Given the description of an element on the screen output the (x, y) to click on. 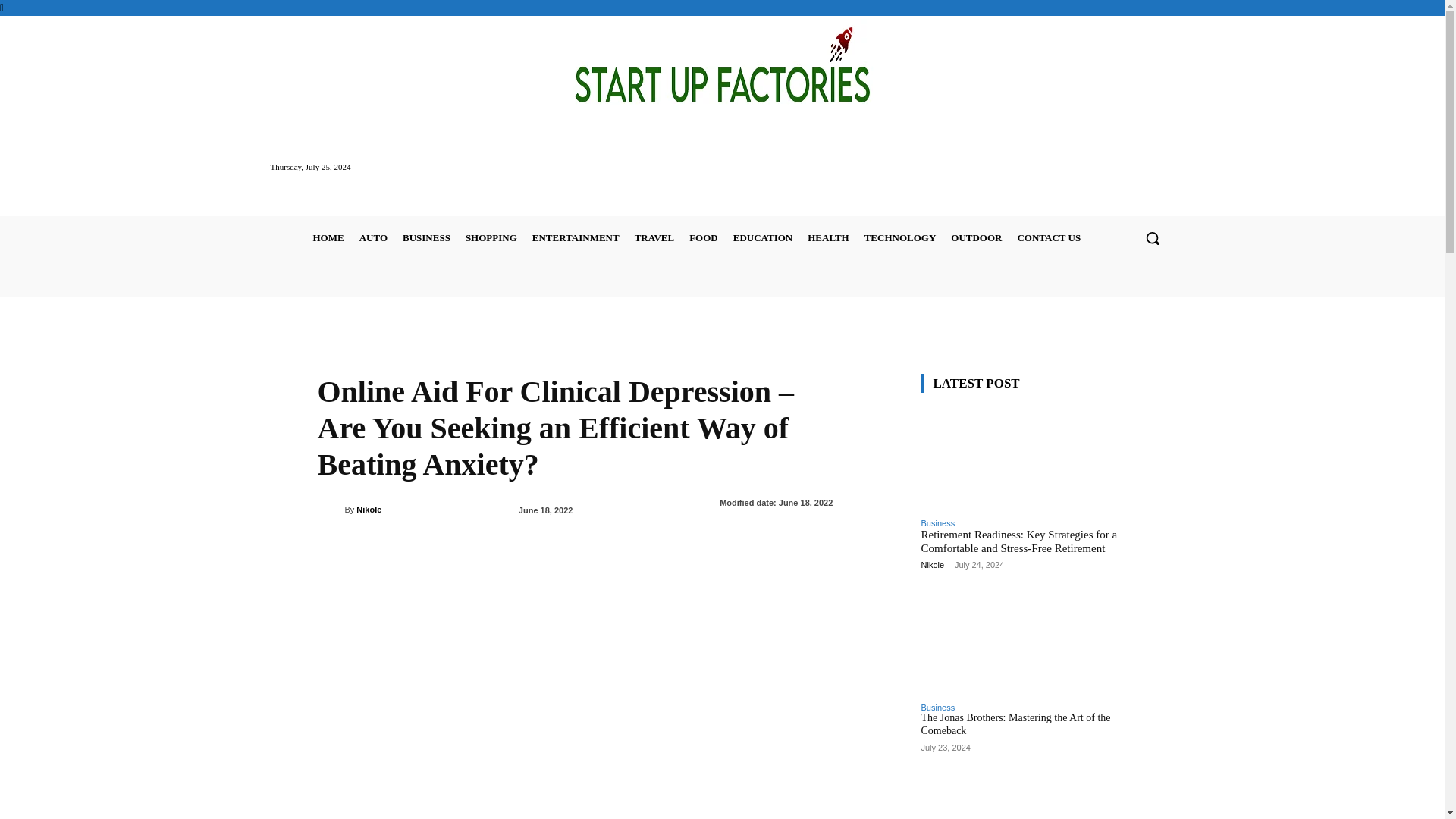
BUSINESS (426, 237)
ENTERTAINMENT (575, 237)
Nikole (330, 508)
HOME (327, 237)
TRAVEL (654, 237)
The Jonas Brothers: Mastering the Art of the Comeback (1023, 641)
AUTO (373, 237)
CONTACT US (1048, 237)
OUTDOOR (975, 237)
SHOPPING (491, 237)
TECHNOLOGY (900, 237)
HEALTH (828, 237)
FOOD (702, 237)
